Given the description of an element on the screen output the (x, y) to click on. 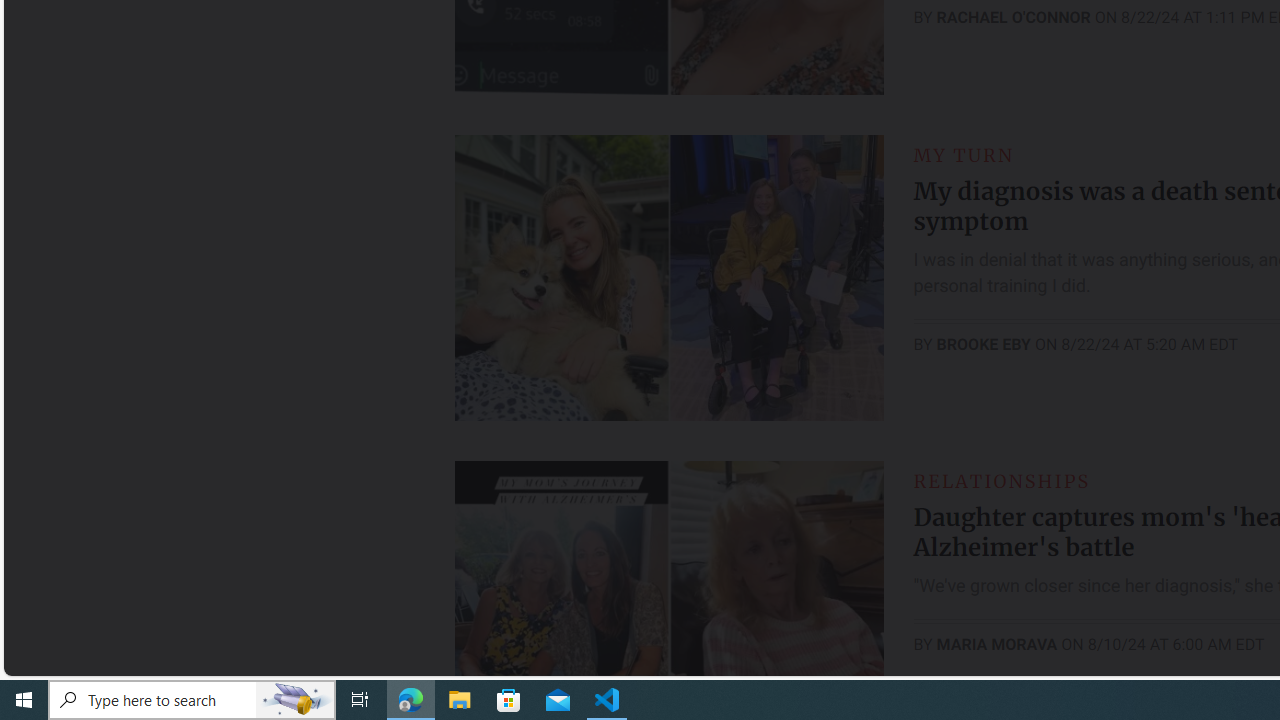
MY TURN (963, 155)
RELATIONSHIPS (1001, 480)
